Given the description of an element on the screen output the (x, y) to click on. 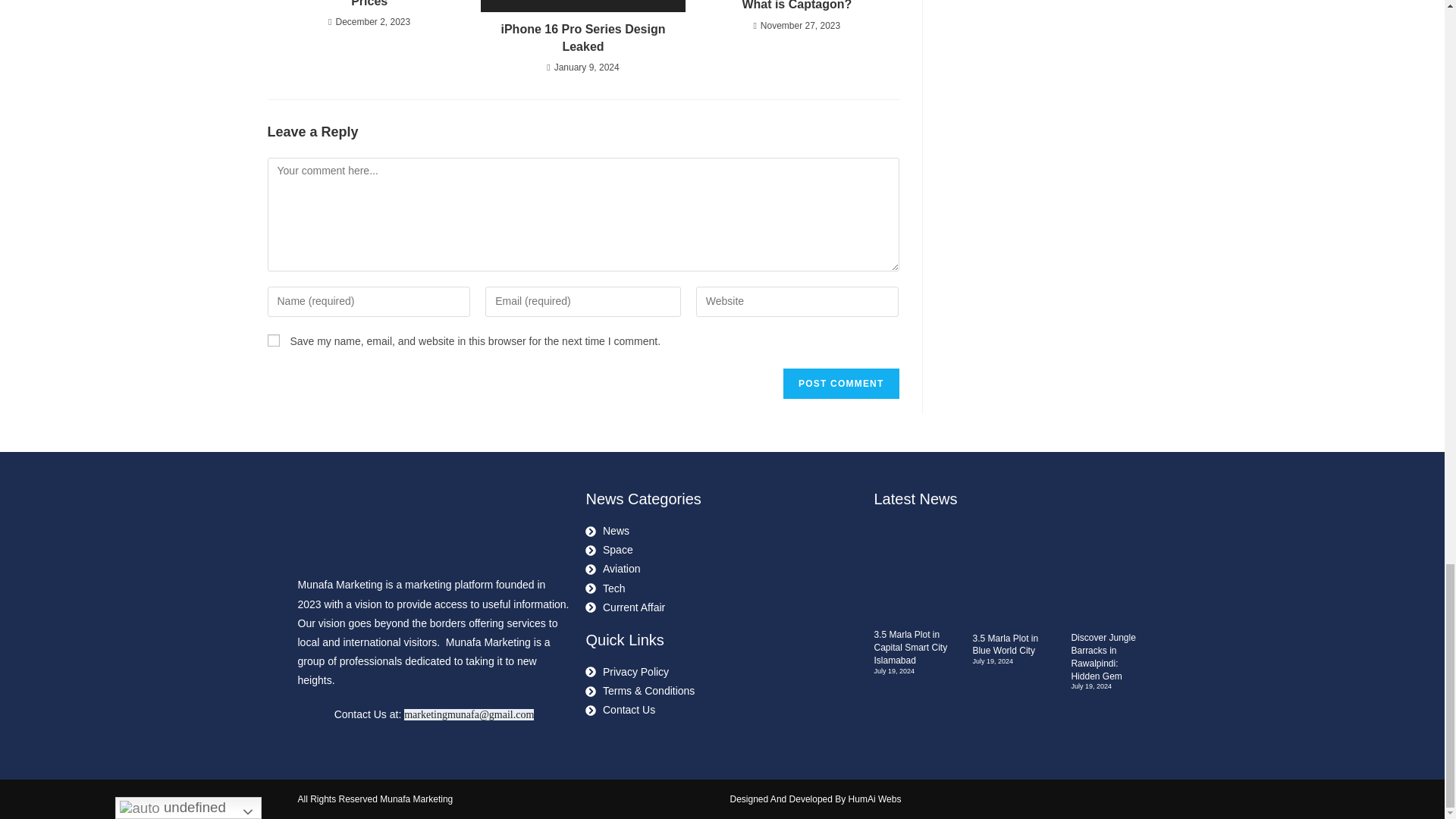
yes (272, 340)
Post Comment (840, 383)
